Given the description of an element on the screen output the (x, y) to click on. 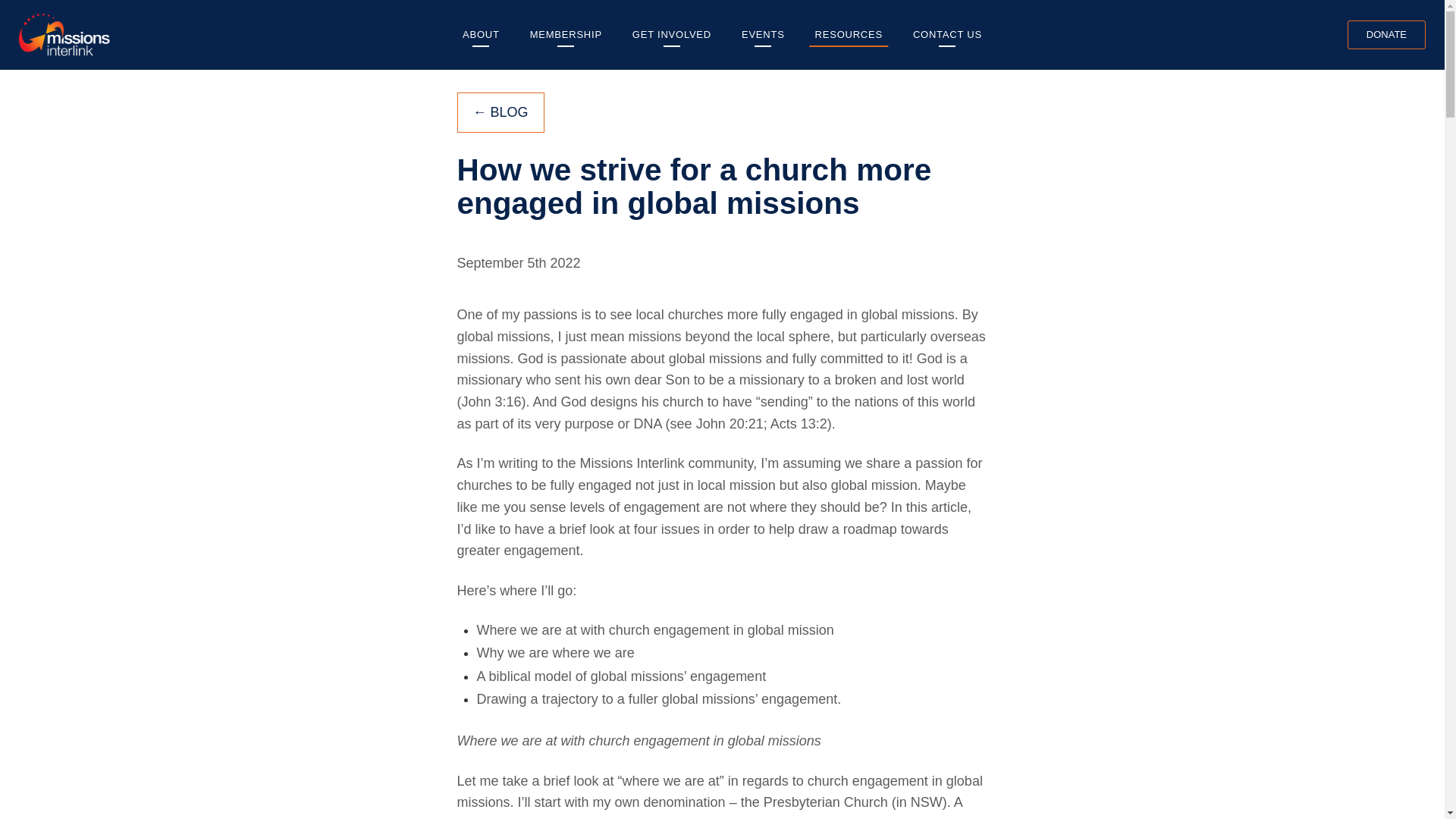
DONATE Element type: text (1386, 33)
Logo Element type: hover (63, 33)
CONTACT US Element type: text (947, 34)
